Given the description of an element on the screen output the (x, y) to click on. 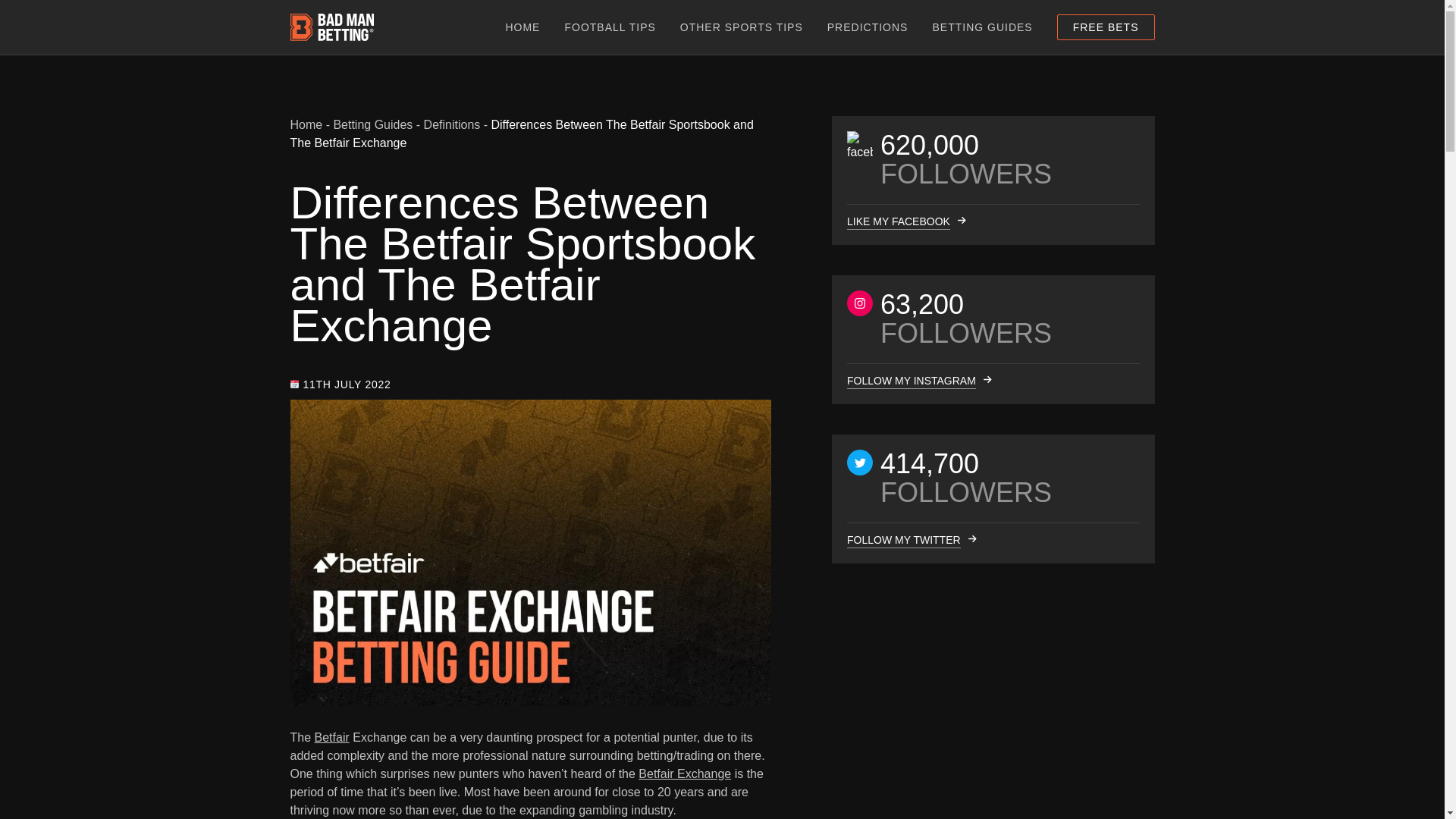
BETTING GUIDES (981, 27)
PREDICTIONS (867, 27)
Home (305, 124)
FOOTBALL TIPS (609, 27)
LIKE MY FACEBOOK (897, 221)
Betting Guides (372, 124)
OTHER SPORTS TIPS (741, 27)
FOLLOW MY INSTAGRAM (910, 381)
Definitions (451, 124)
FREE BETS (1105, 27)
